Given the description of an element on the screen output the (x, y) to click on. 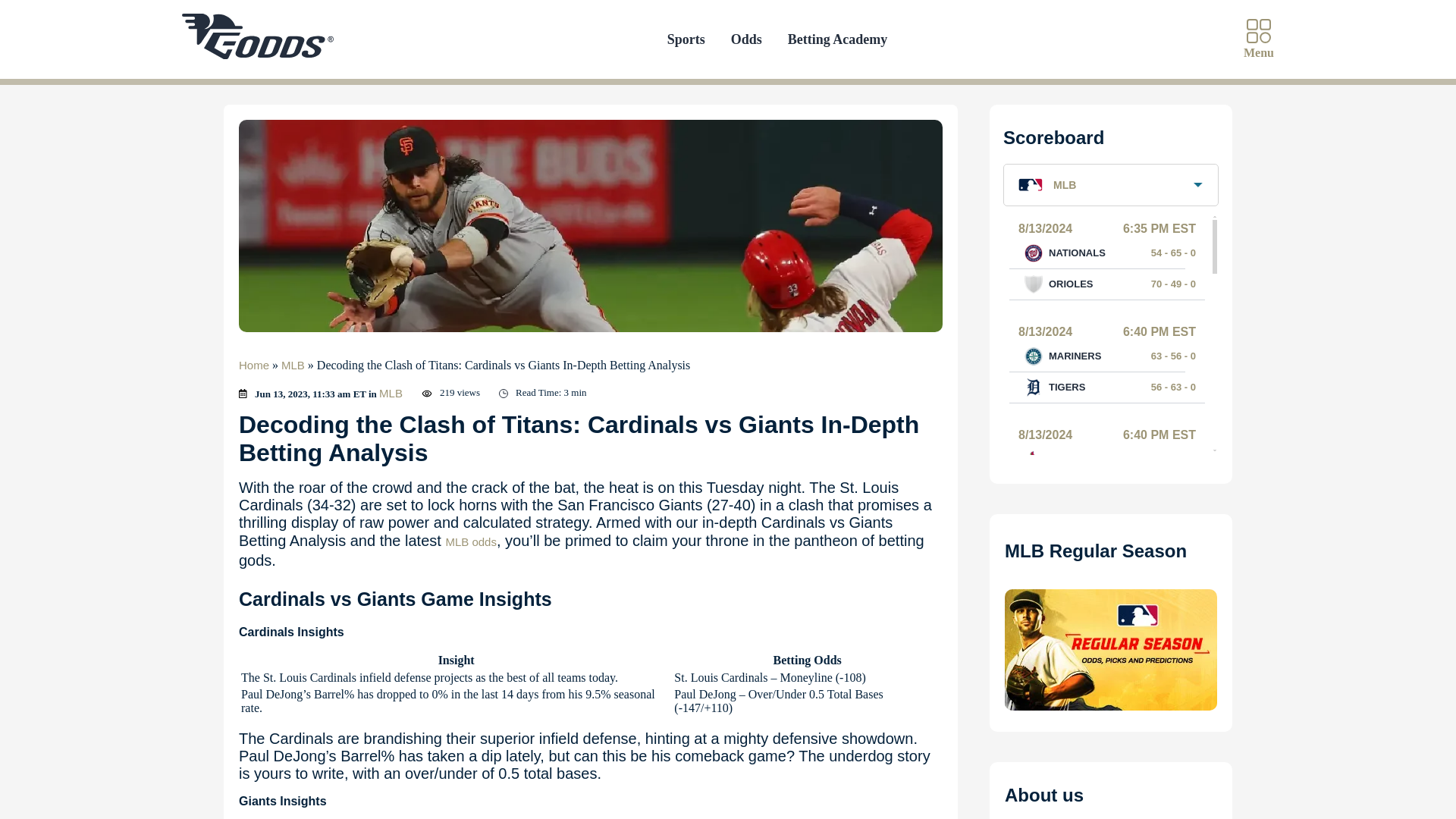
Betting Academy (836, 38)
Sports (685, 38)
Odds (745, 38)
